Given the description of an element on the screen output the (x, y) to click on. 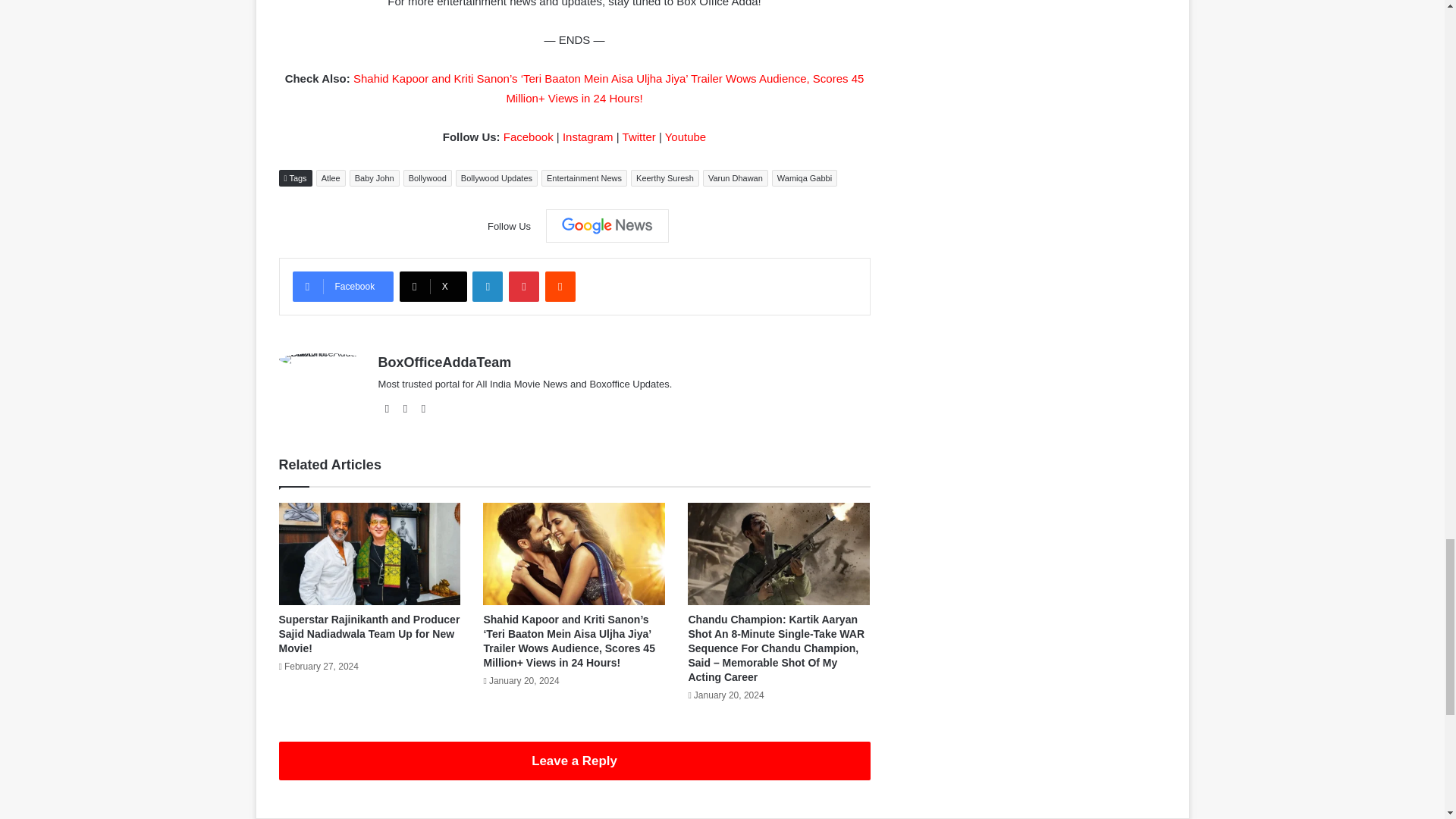
Facebook (528, 136)
Baby John (373, 177)
Instagram (587, 136)
Google News (607, 225)
X (432, 286)
Wamiqa Gabbi (804, 177)
Twitter (639, 136)
X (432, 286)
Keerthy Suresh (664, 177)
LinkedIn (486, 286)
Bollywood (427, 177)
Atlee (330, 177)
Facebook (343, 286)
Reddit (559, 286)
Entertainment News (584, 177)
